Given the description of an element on the screen output the (x, y) to click on. 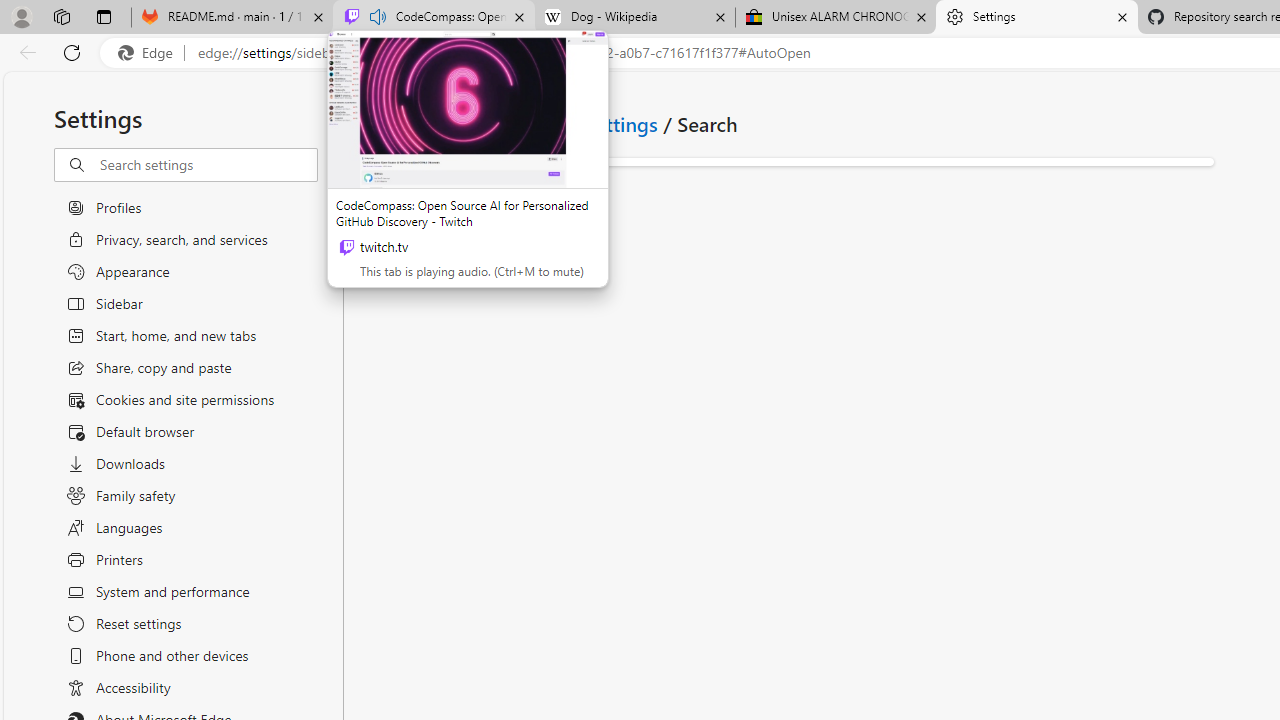
Search settings (207, 165)
Mute tab (377, 16)
Dog - Wikipedia (634, 17)
Edge (150, 53)
Class: c01177 (371, 123)
App and notification settings (527, 123)
